Given the description of an element on the screen output the (x, y) to click on. 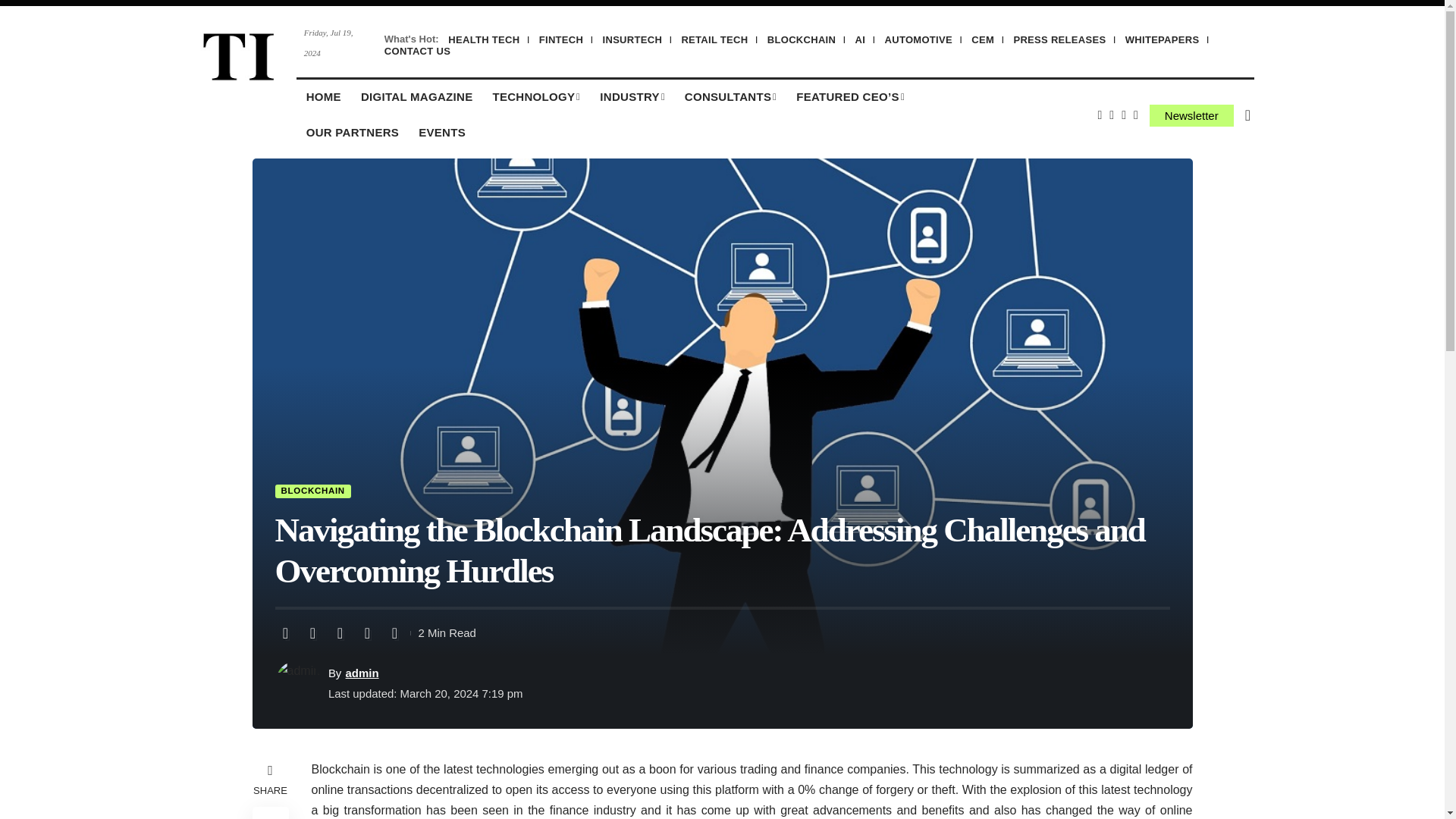
DIGITAL MAGAZINE (416, 97)
AUTOMOTIVE (917, 39)
FINTECH (560, 39)
HOME (323, 97)
HEALTH TECH (483, 39)
TECHNOLOGY (535, 97)
CONTACT US (416, 50)
BLOCKCHAIN (801, 39)
RETAIL TECH (714, 39)
INSURTECH (632, 39)
